Given the description of an element on the screen output the (x, y) to click on. 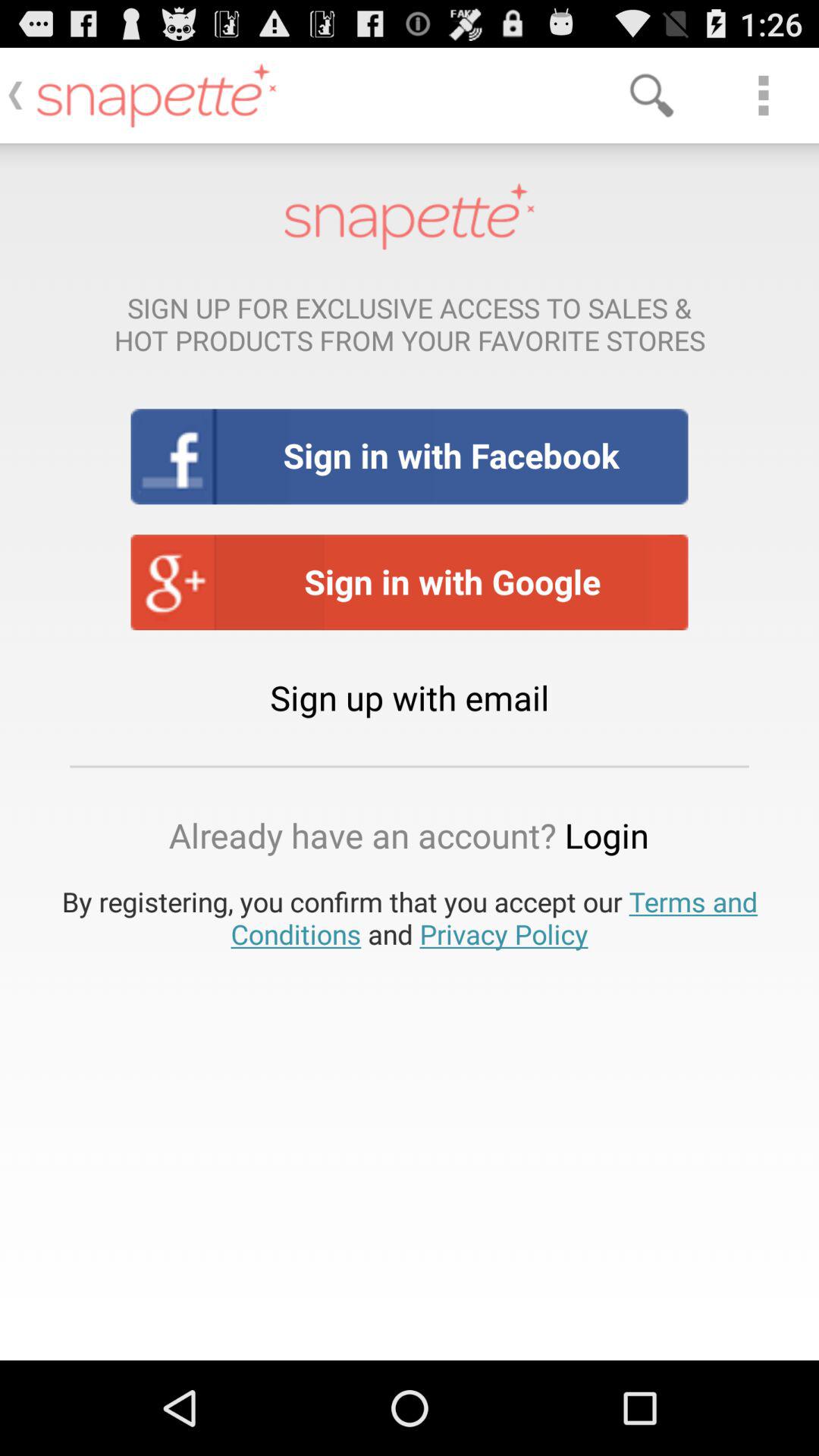
tap by registering you icon (409, 917)
